Given the description of an element on the screen output the (x, y) to click on. 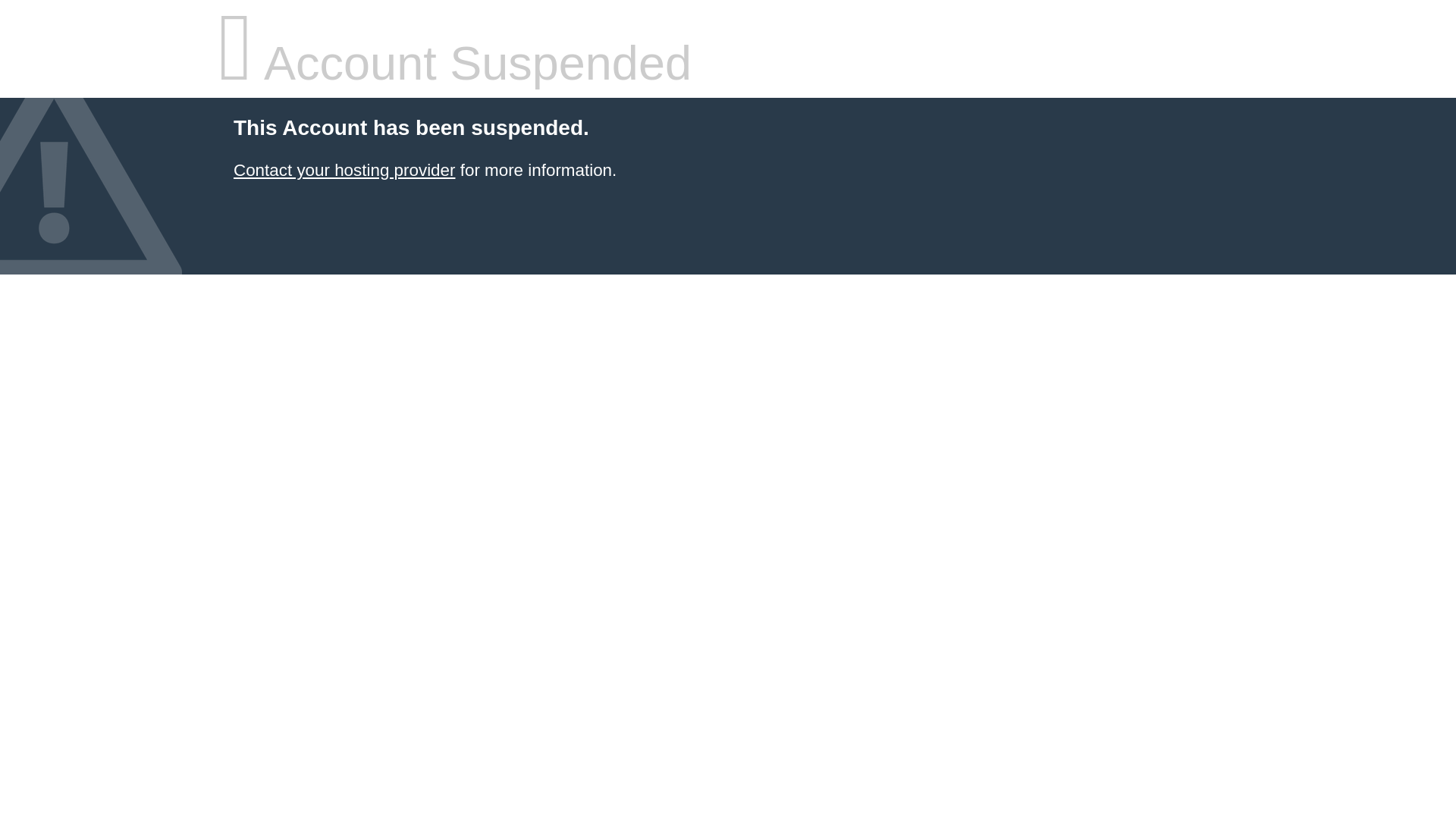
Contact your hosting provider (343, 169)
